Given the description of an element on the screen output the (x, y) to click on. 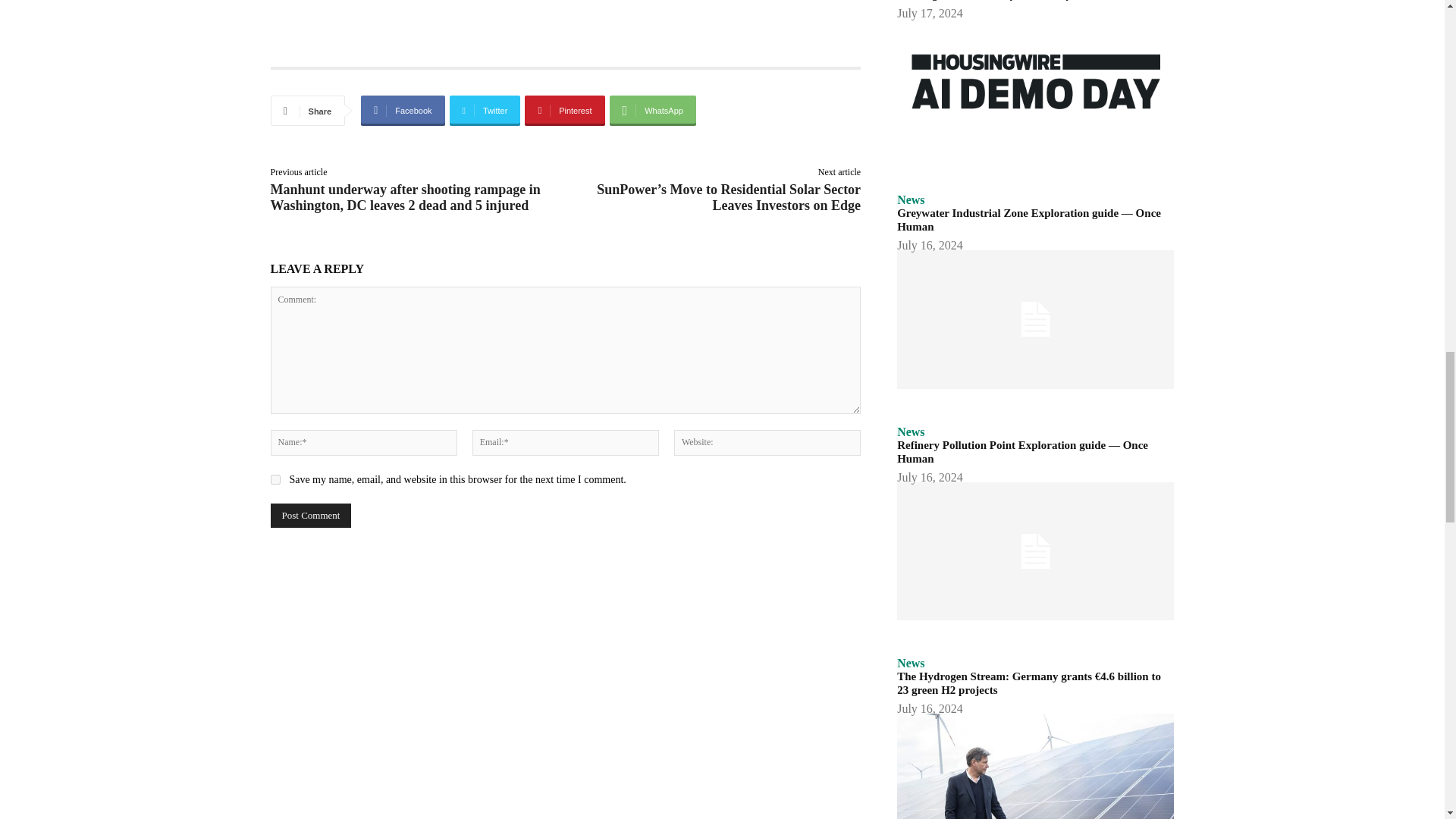
Post Comment (309, 515)
yes (274, 479)
